Given the description of an element on the screen output the (x, y) to click on. 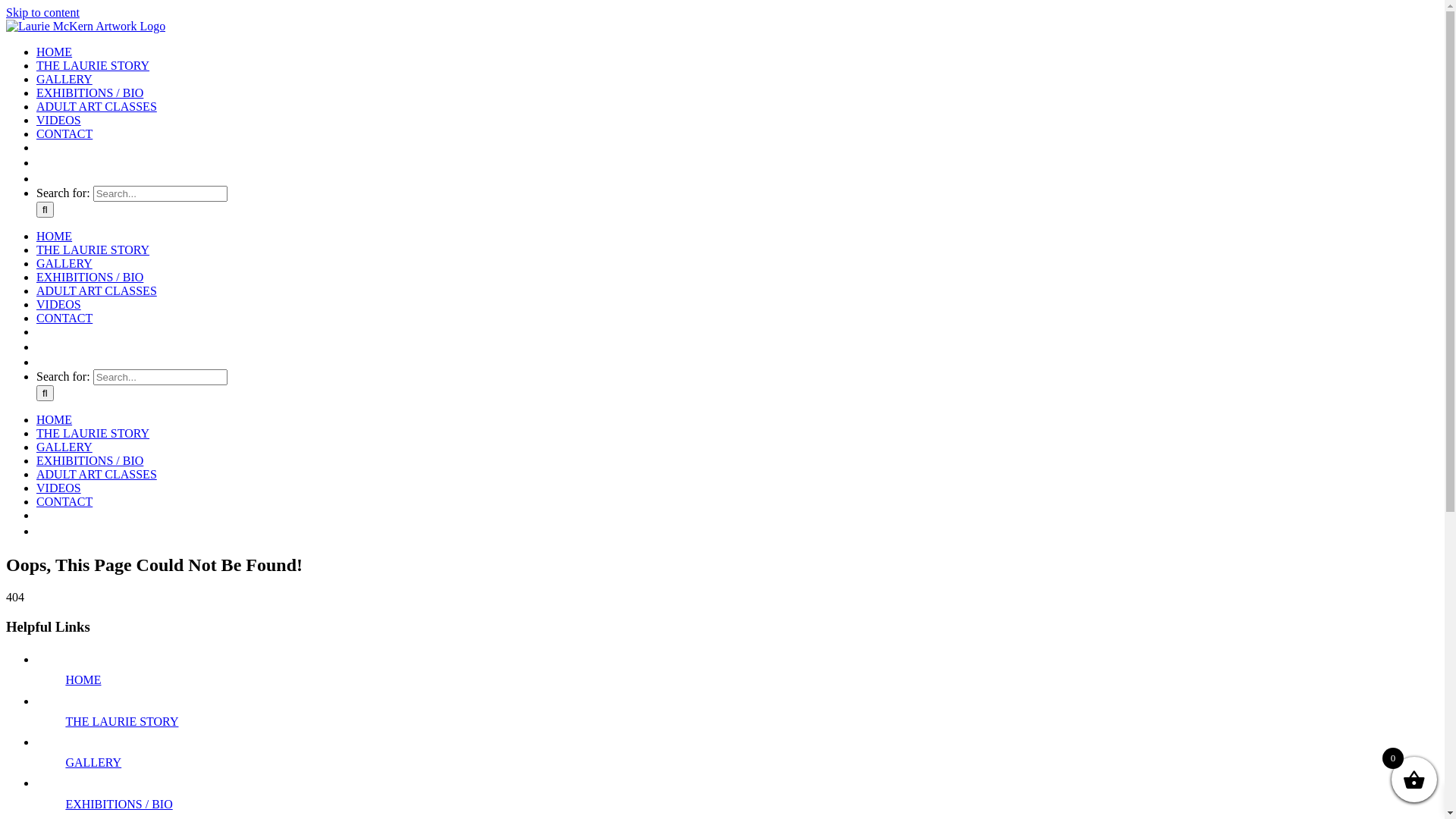
THE LAURIE STORY Element type: text (92, 432)
HOME Element type: text (54, 419)
GALLERY Element type: text (64, 446)
GALLERY Element type: text (64, 78)
THE LAURIE STORY Element type: text (121, 721)
EXHIBITIONS / BIO Element type: text (89, 92)
HOME Element type: text (54, 235)
THE LAURIE STORY Element type: text (92, 249)
EXHIBITIONS / BIO Element type: text (89, 276)
GALLERY Element type: text (64, 263)
EXHIBITIONS / BIO Element type: text (118, 803)
GALLERY Element type: text (93, 762)
THE LAURIE STORY Element type: text (92, 65)
CONTACT Element type: text (64, 501)
VIDEOS Element type: text (58, 487)
CONTACT Element type: text (64, 133)
ADULT ART CLASSES Element type: text (96, 106)
Skip to content Element type: text (42, 12)
VIDEOS Element type: text (58, 119)
VIDEOS Element type: text (58, 304)
HOME Element type: text (54, 51)
EXHIBITIONS / BIO Element type: text (89, 460)
CONTACT Element type: text (64, 317)
ADULT ART CLASSES Element type: text (96, 290)
ADULT ART CLASSES Element type: text (96, 473)
HOME Element type: text (82, 679)
